Given the description of an element on the screen output the (x, y) to click on. 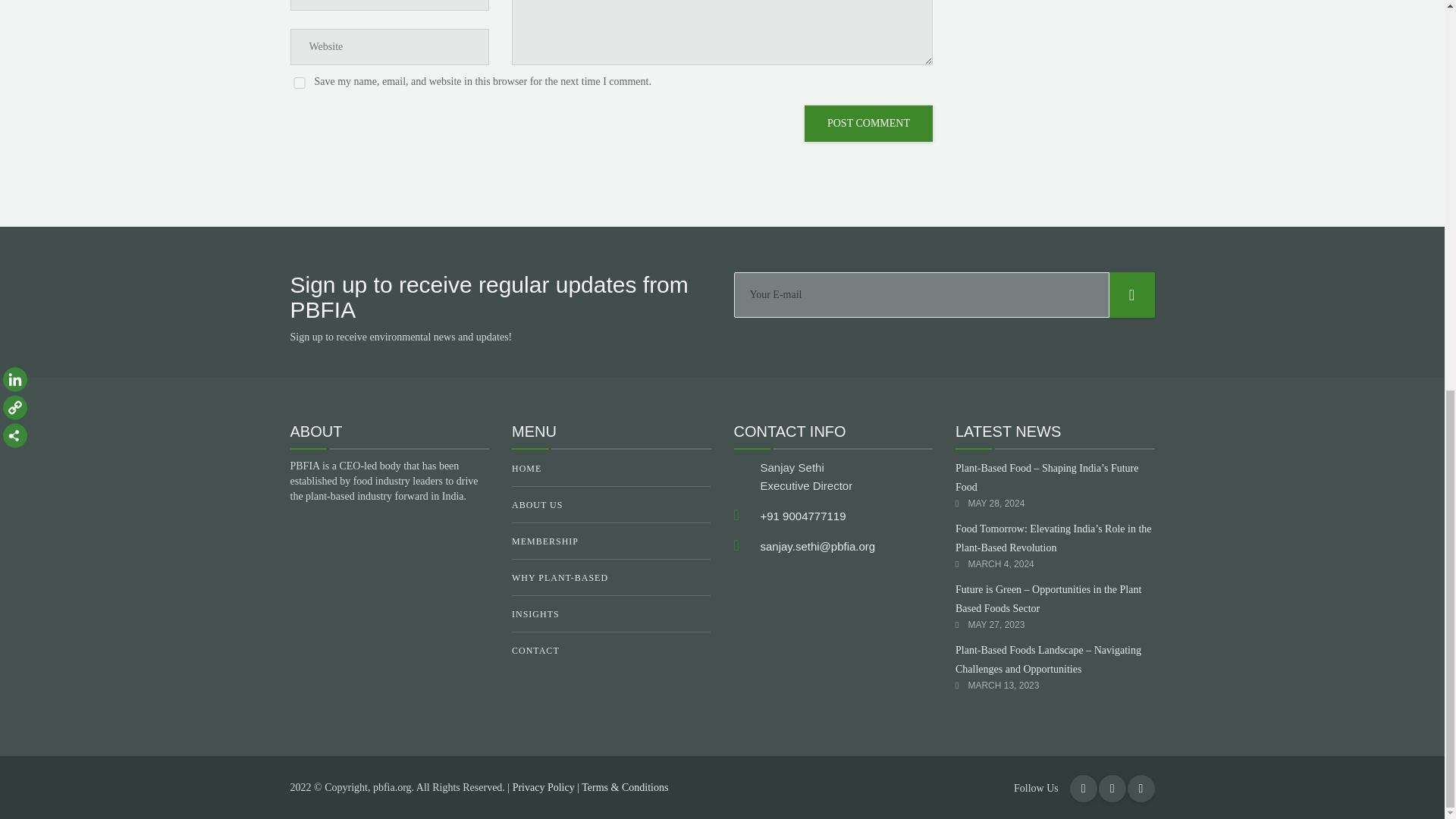
WHY PLANT-BASED (611, 577)
MEMBERSHIP (611, 541)
INSIGHTS (611, 614)
CONTACT (611, 650)
HOME (611, 472)
Post Comment (869, 123)
yes (298, 82)
ABOUT US (611, 504)
Post Comment (869, 123)
